Given the description of an element on the screen output the (x, y) to click on. 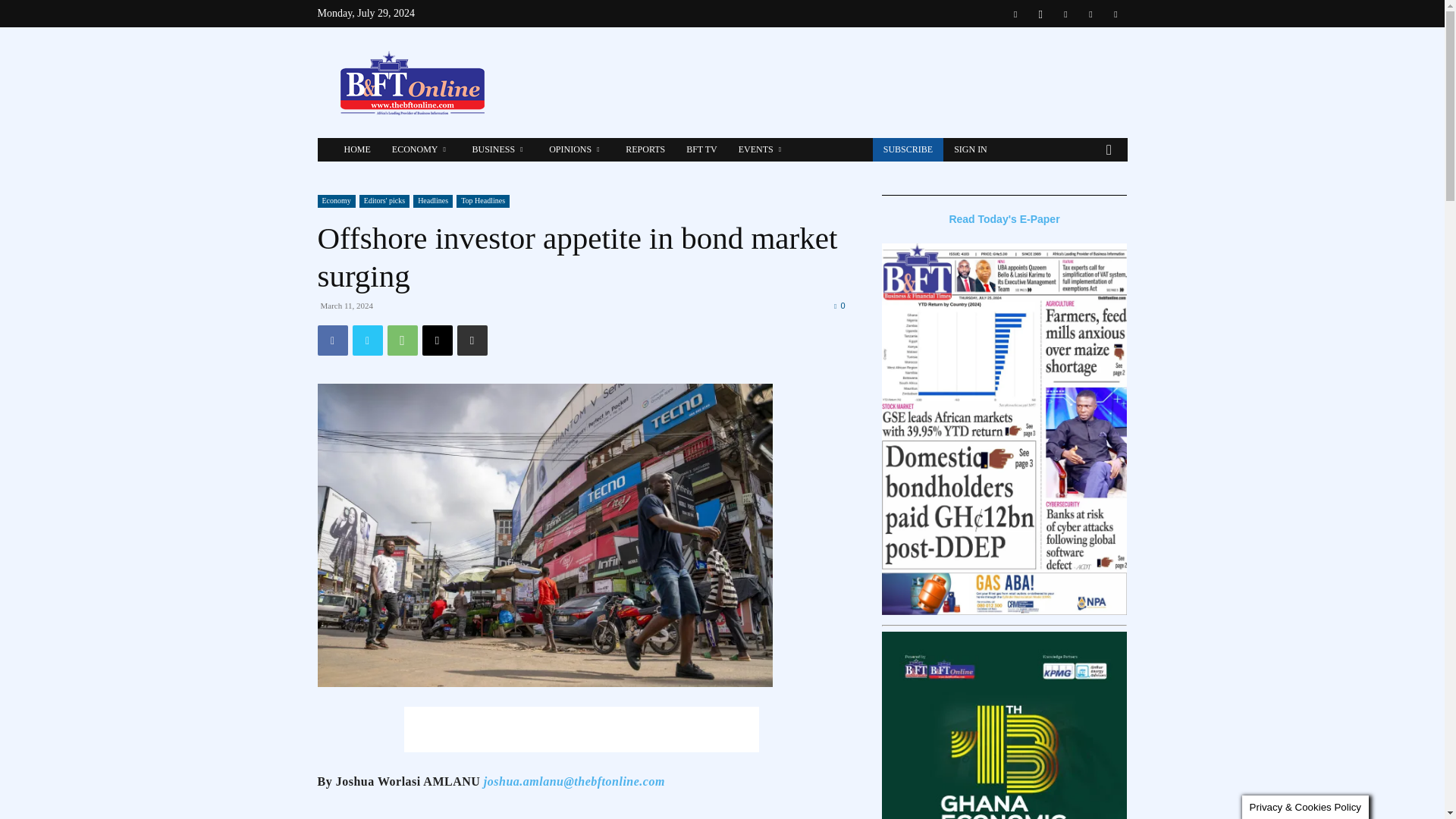
Facebook (332, 340)
